Given the description of an element on the screen output the (x, y) to click on. 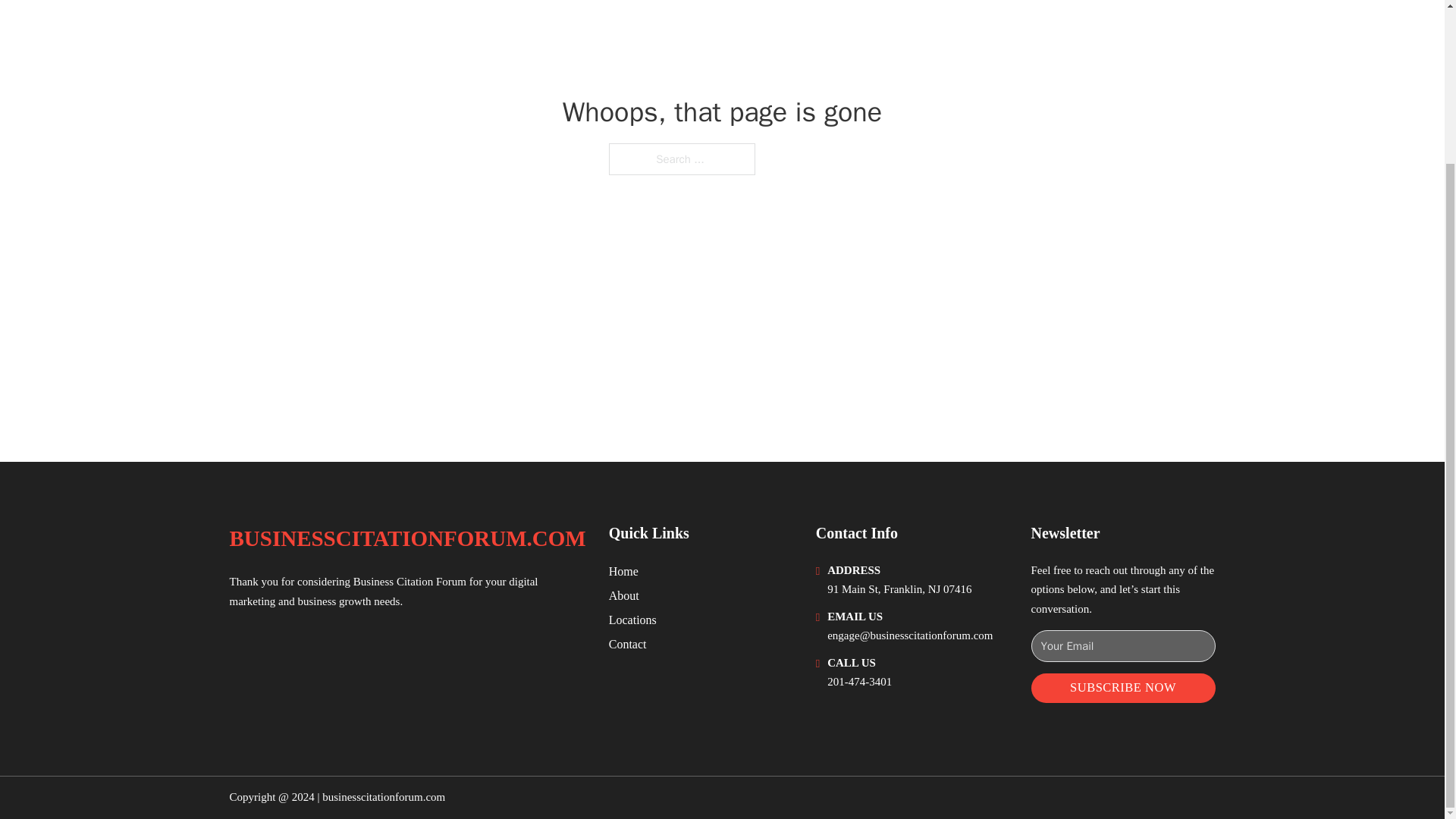
Locations (632, 619)
BUSINESSCITATIONFORUM.COM (406, 538)
About (623, 595)
SUBSCRIBE NOW (1122, 687)
Home (623, 571)
201-474-3401 (859, 681)
Contact (627, 643)
